Given the description of an element on the screen output the (x, y) to click on. 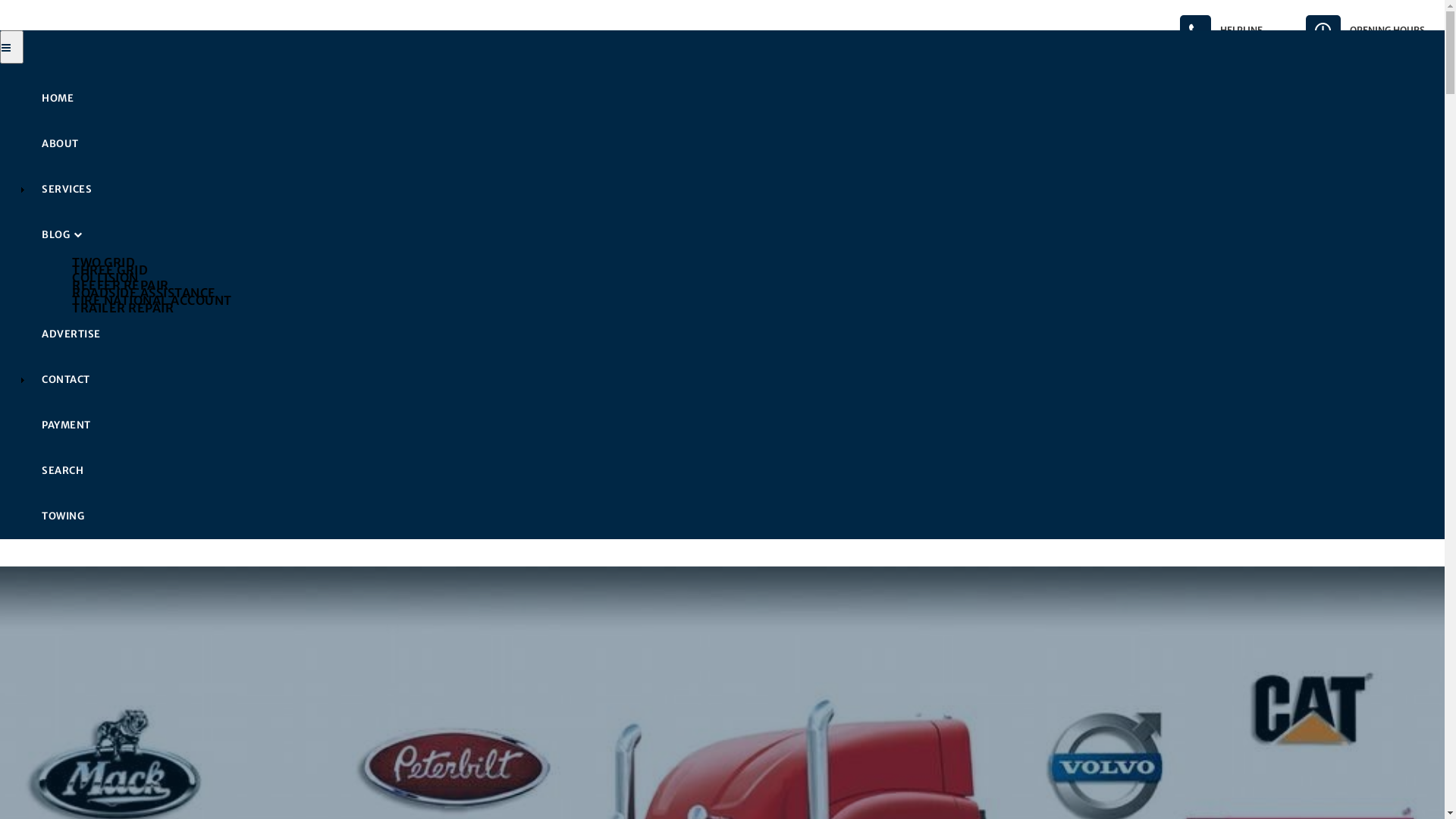
HOME Element type: text (737, 98)
SEARCH Element type: text (737, 469)
TOWING Element type: text (737, 515)
CONTACT Element type: text (737, 378)
BLOG Element type: text (737, 234)
TWO GRID Element type: text (752, 261)
TIRE NATIONAL ACCOUNT Element type: text (752, 299)
ADVERTISE Element type: text (737, 333)
PAYMENT Element type: text (737, 424)
COLLISION Element type: text (752, 276)
SERVICES Element type: text (737, 189)
ROADSIDE ASSISTANCE Element type: text (752, 291)
TRAILER REPAIR Element type: text (752, 306)
Skip to main content Element type: text (0, 0)
ABOUT Element type: text (737, 143)
REEFER REPAIR Element type: text (752, 284)
THREE GRID Element type: text (752, 269)
